Given the description of an element on the screen output the (x, y) to click on. 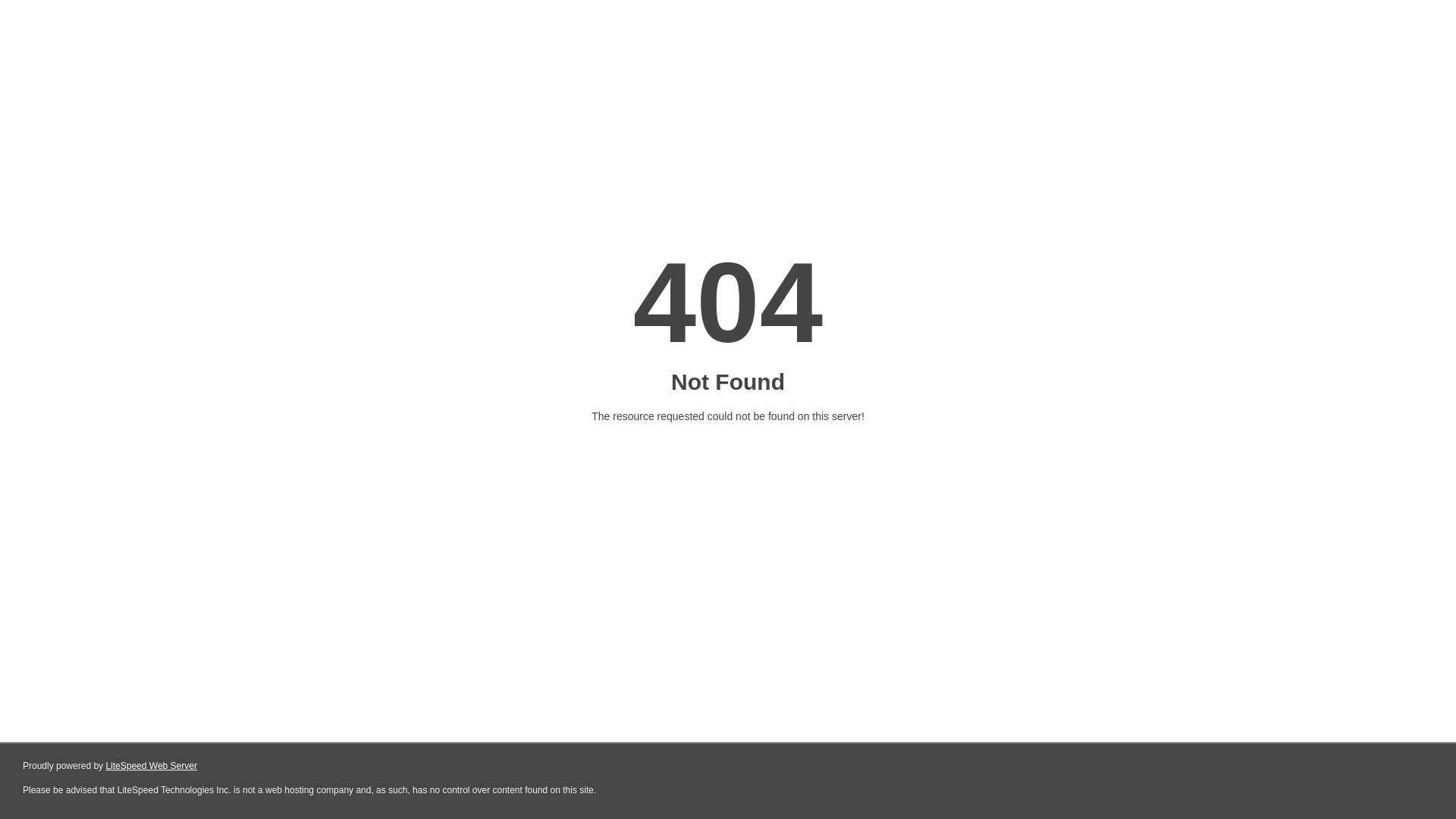
LiteSpeed Web Server Element type: text (151, 765)
